Given the description of an element on the screen output the (x, y) to click on. 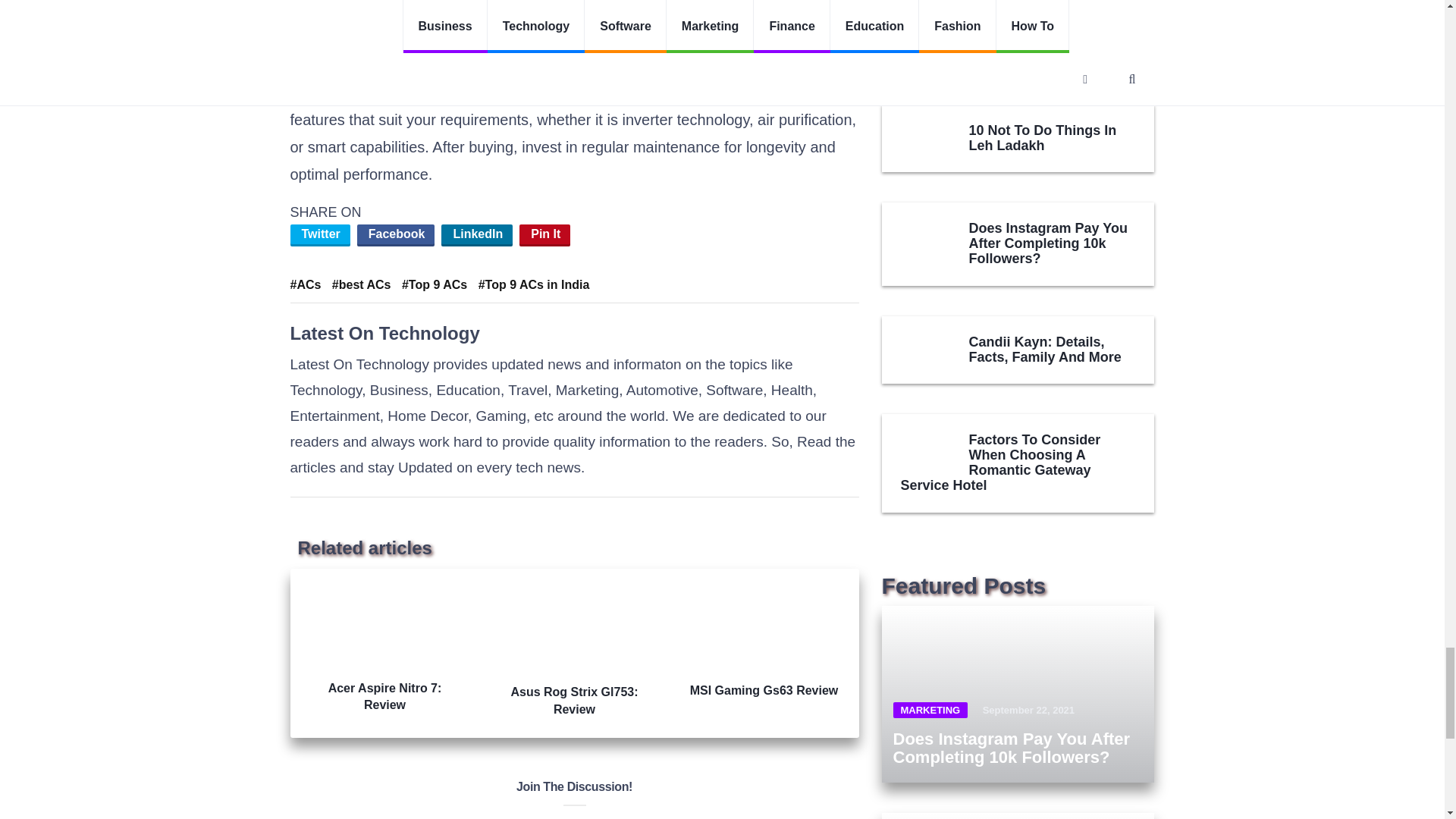
MSI Gaming Gs63 Review (763, 639)
Acer Aspire Nitro 7: Review (384, 646)
Asus Rog Strix Gl753: Review (574, 649)
